Given the description of an element on the screen output the (x, y) to click on. 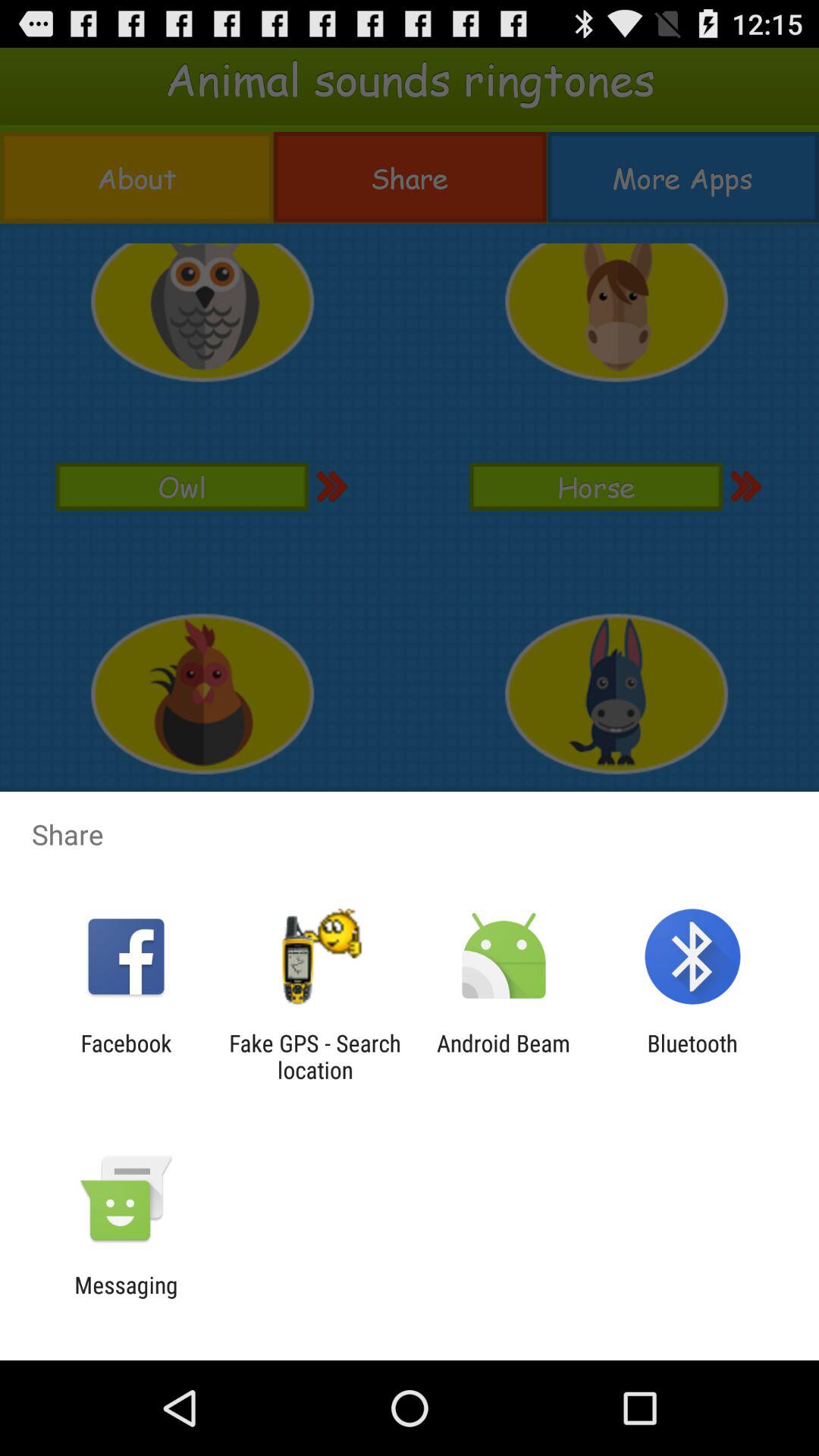
scroll until messaging item (126, 1298)
